Given the description of an element on the screen output the (x, y) to click on. 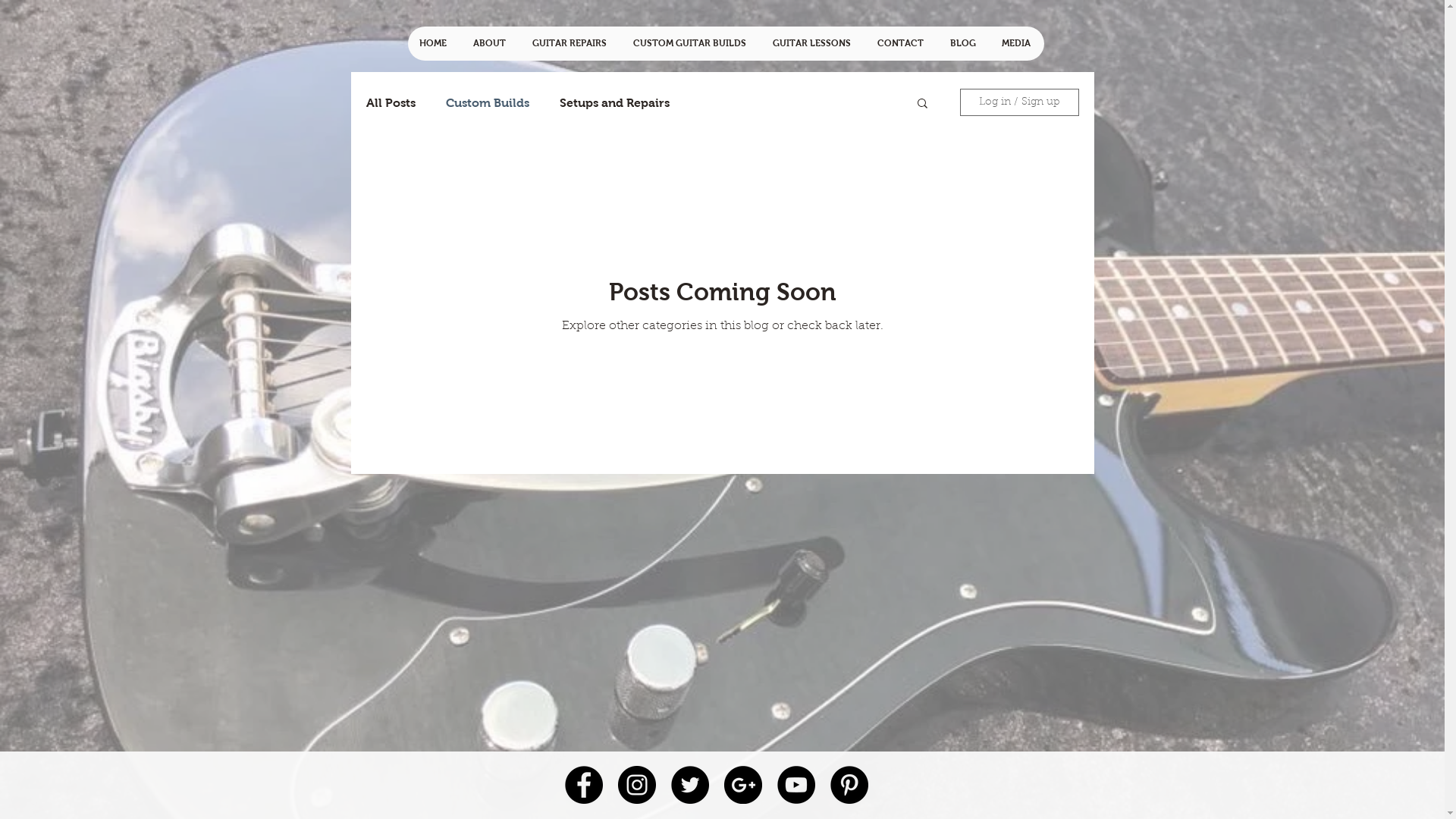
CONTACT Element type: text (901, 43)
MEDIA Element type: text (1016, 43)
Setups and Repairs Element type: text (614, 101)
ABOUT Element type: text (490, 43)
GUITAR REPAIRS Element type: text (570, 43)
BLOG Element type: text (963, 43)
All Posts Element type: text (389, 101)
CUSTOM GUITAR BUILDS Element type: text (690, 43)
Custom Builds Element type: text (487, 101)
Log in / Sign up Element type: text (1019, 102)
GUITAR LESSONS Element type: text (812, 43)
HOME Element type: text (434, 43)
